Given the description of an element on the screen output the (x, y) to click on. 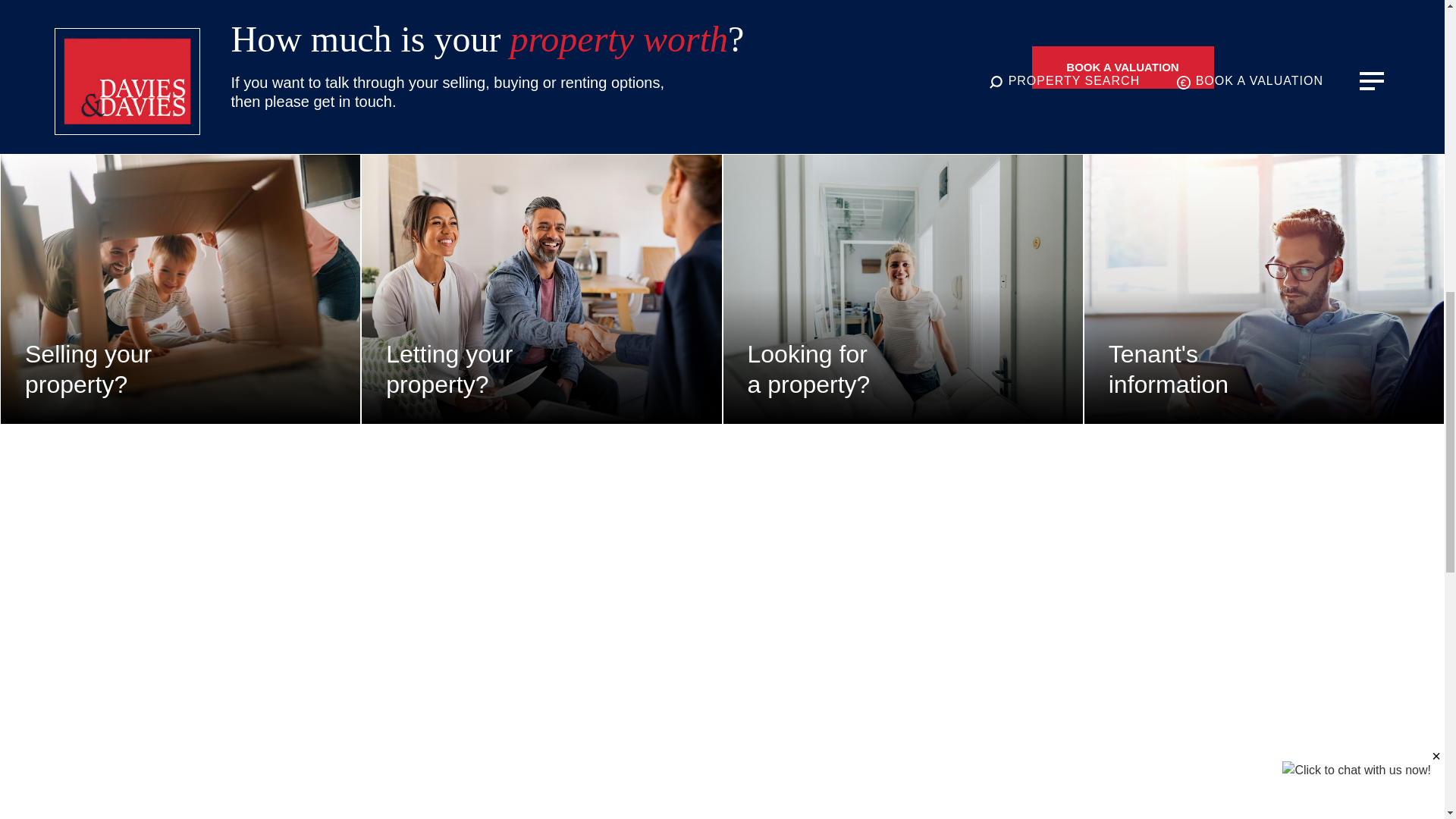
BOOK A VALUATION (1121, 67)
